Given the description of an element on the screen output the (x, y) to click on. 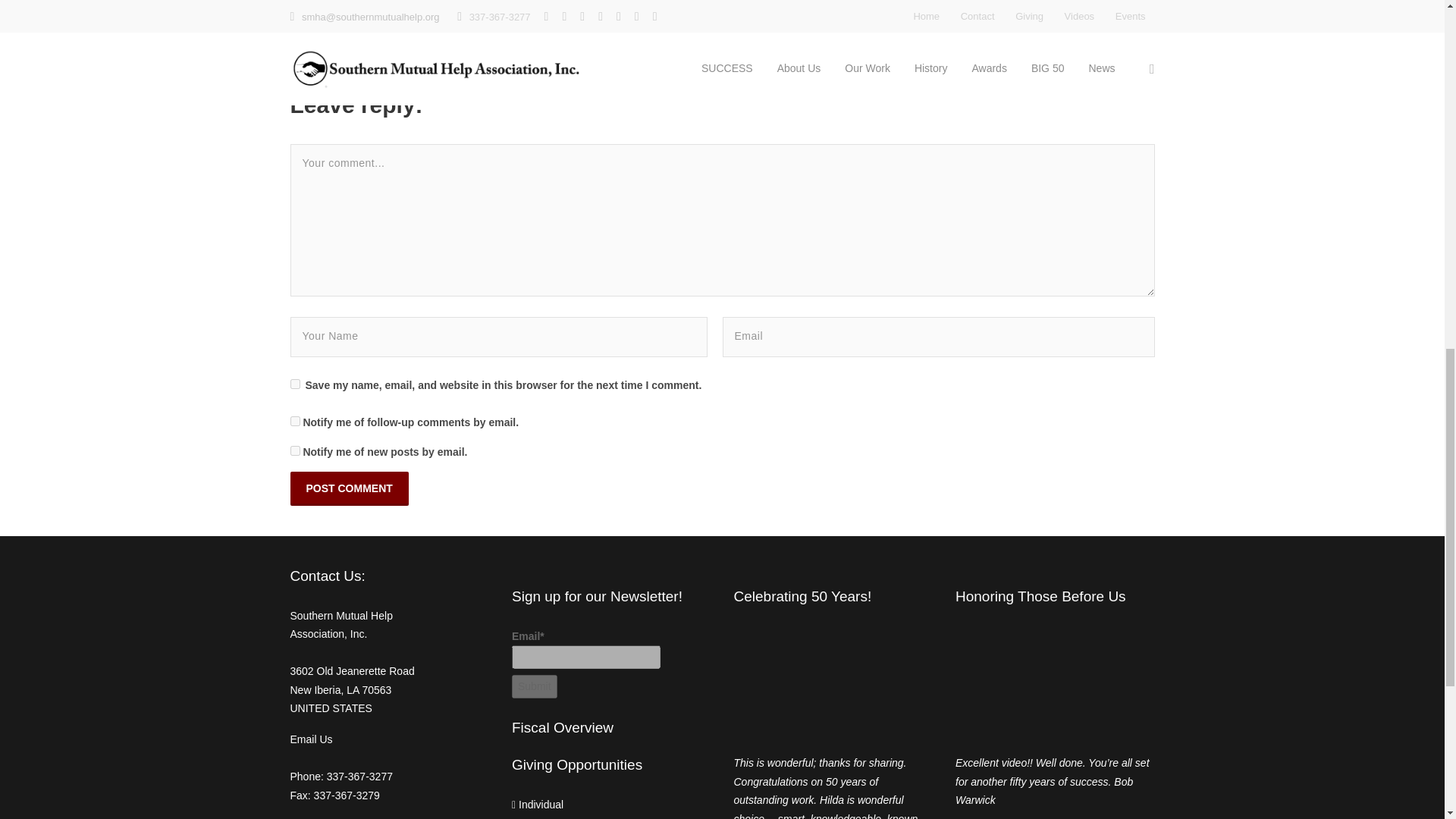
yes (294, 384)
subscribe (294, 450)
Submit (534, 686)
Post Comment (348, 488)
subscribe (294, 420)
vimeo-player (833, 684)
